Given the description of an element on the screen output the (x, y) to click on. 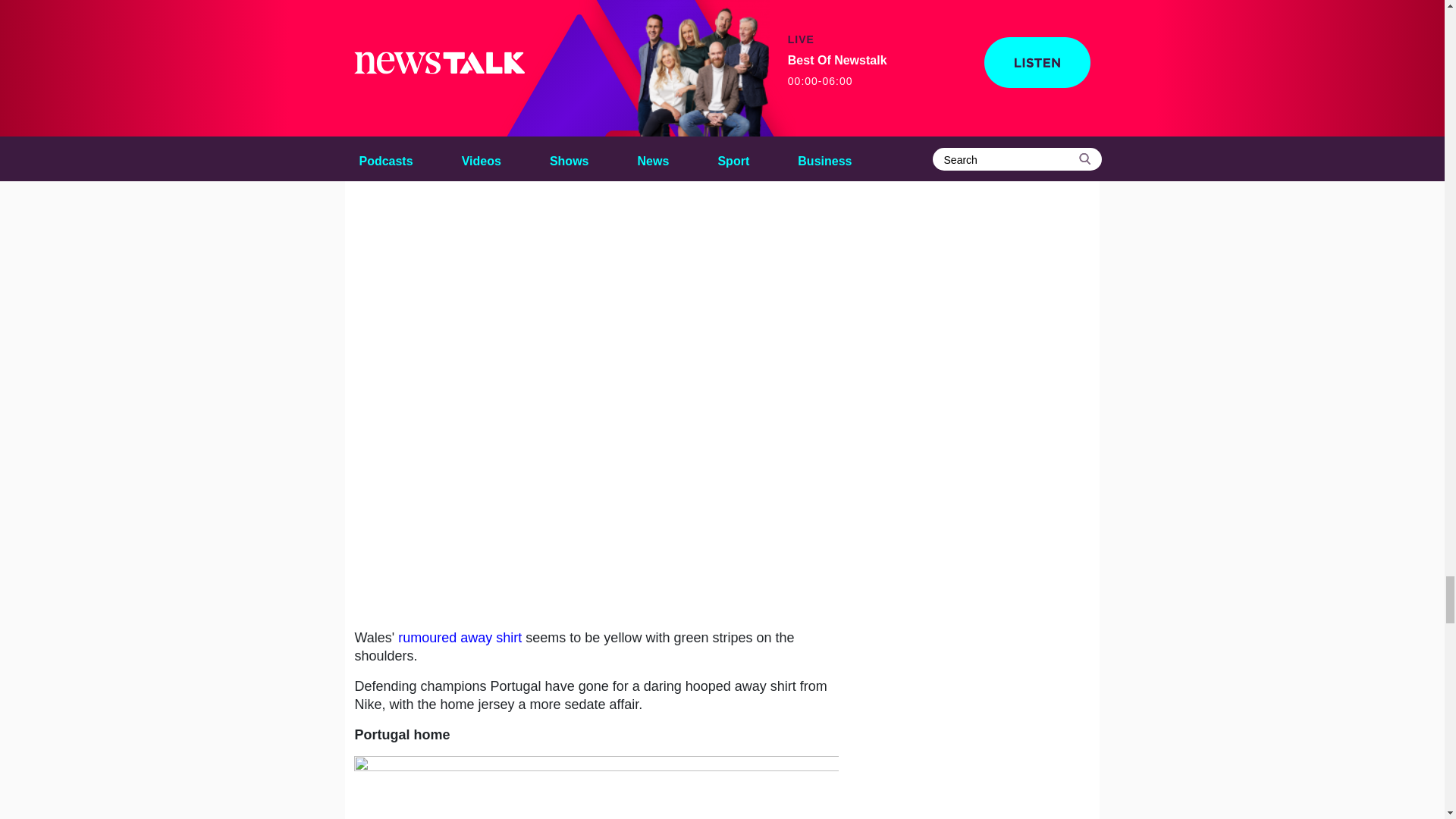
rumoured away shirt (459, 637)
